Given the description of an element on the screen output the (x, y) to click on. 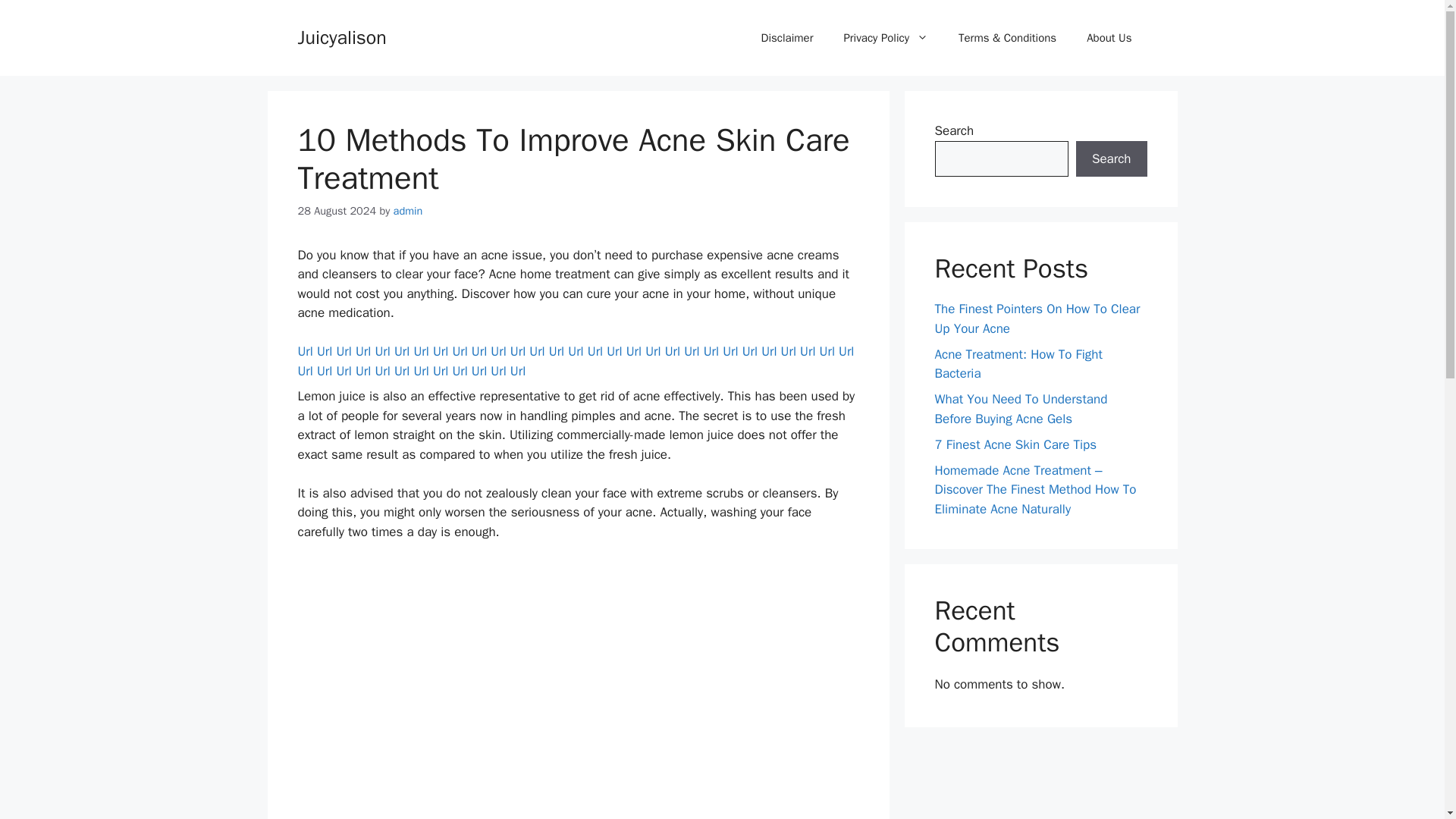
Url (575, 351)
Url (363, 351)
Juicyalison (341, 37)
Url (845, 351)
Url (305, 371)
Url (518, 351)
View all posts by admin (408, 210)
Url (440, 351)
Url (305, 351)
Url (634, 351)
